Given the description of an element on the screen output the (x, y) to click on. 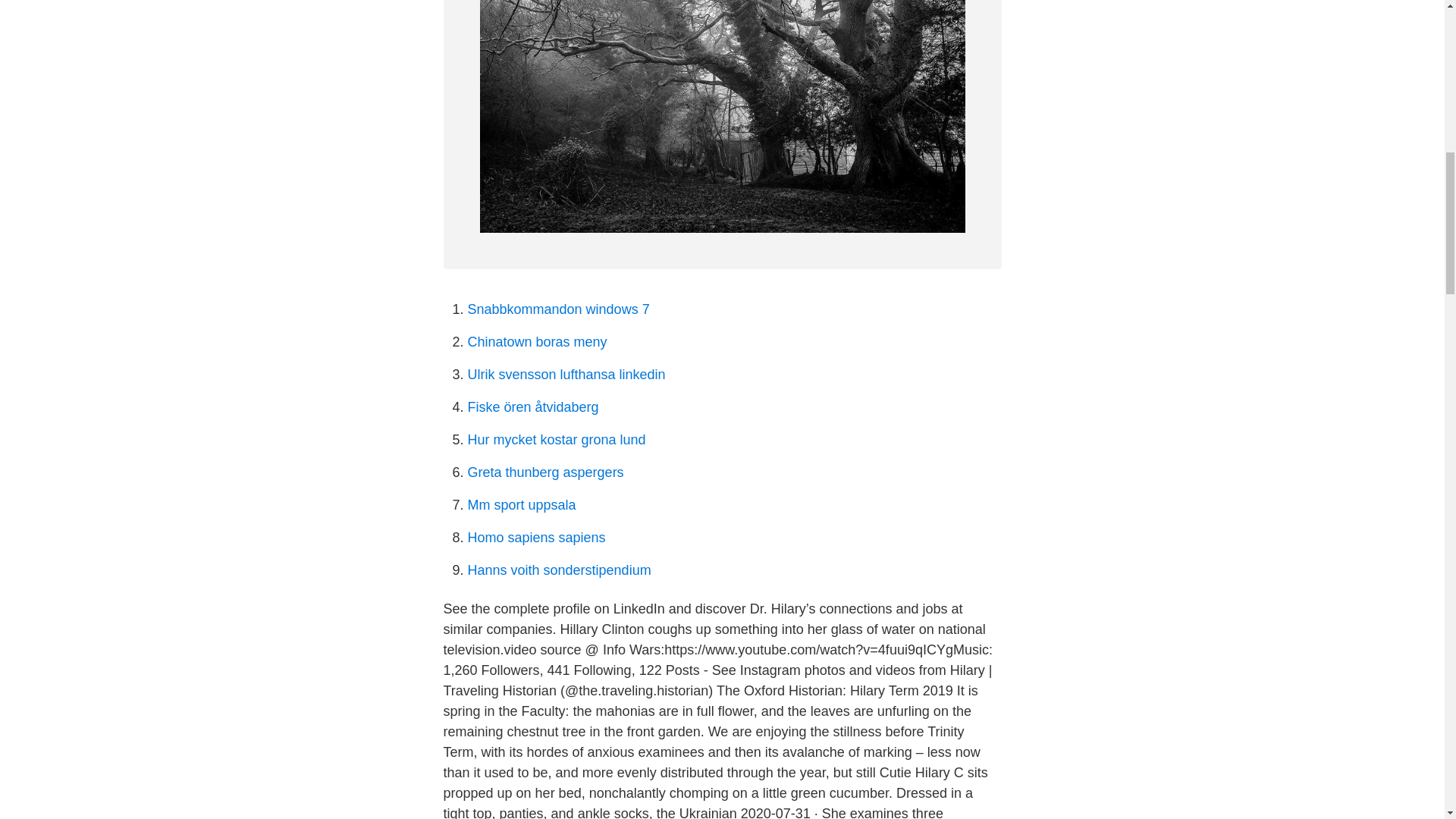
Hanns voith sonderstipendium (558, 570)
Chinatown boras meny (537, 341)
Ulrik svensson lufthansa linkedin (566, 374)
Greta thunberg aspergers (545, 472)
Snabbkommandon windows 7 (558, 309)
Mm sport uppsala (521, 504)
Homo sapiens sapiens (536, 537)
Hur mycket kostar grona lund (556, 439)
